Given the description of an element on the screen output the (x, y) to click on. 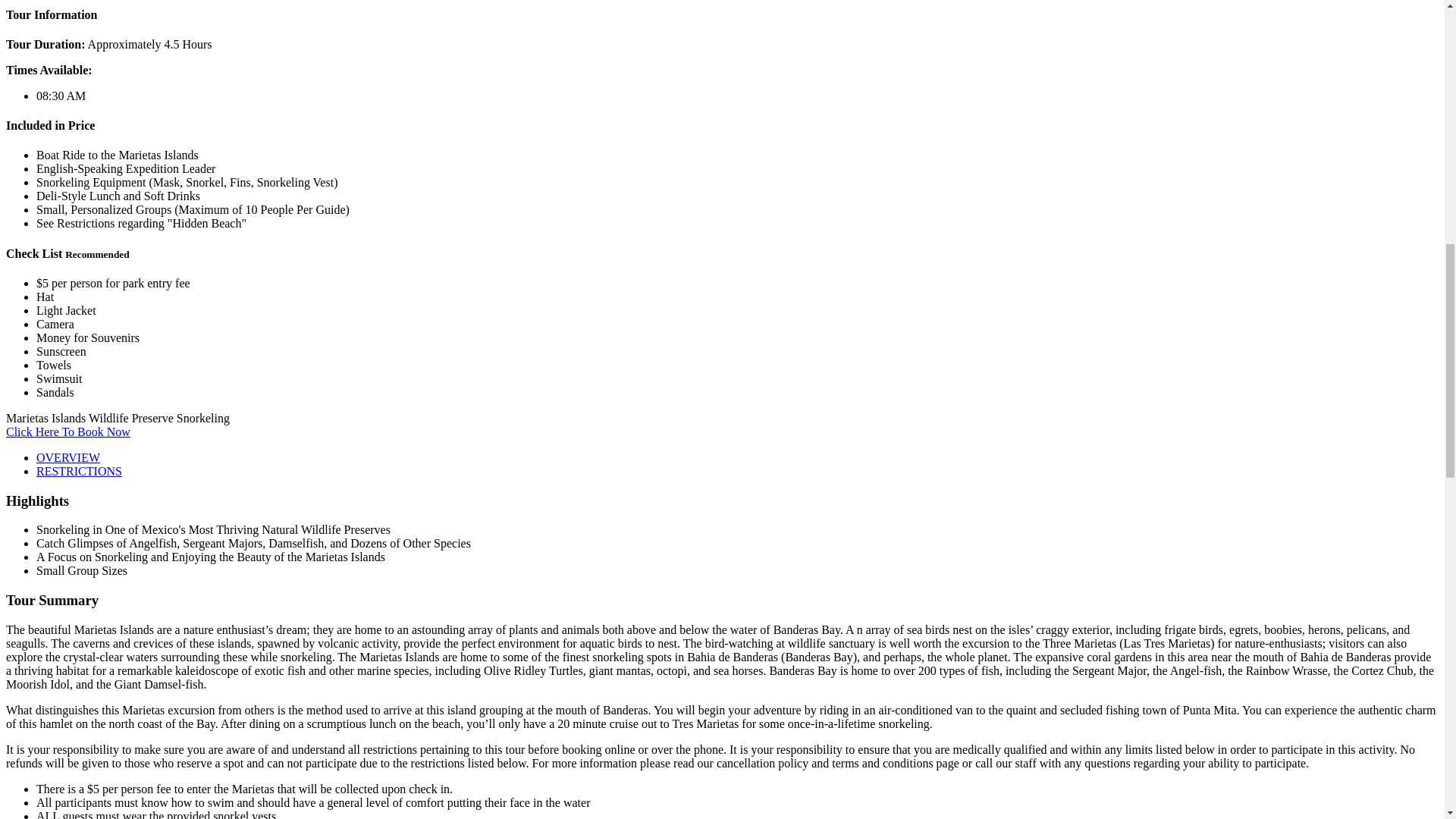
Tour Overview (68, 457)
Tour Restrictions (79, 471)
Click Here To Book Now (68, 431)
RESTRICTIONS (79, 471)
OVERVIEW (68, 457)
